Given the description of an element on the screen output the (x, y) to click on. 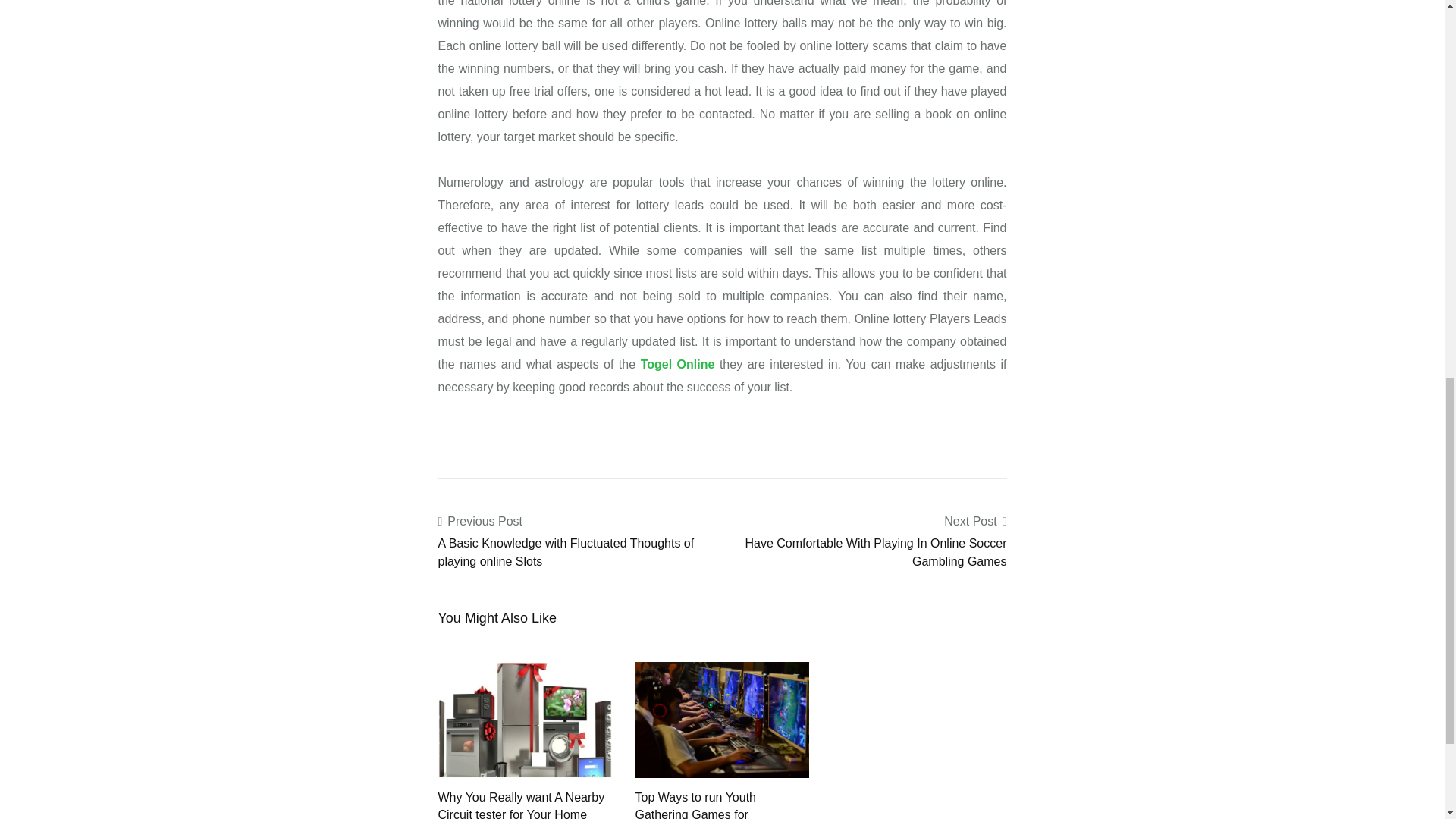
Togel Online (677, 364)
Top Ways to run Youth Gathering Games for Youngsters (721, 718)
Top Ways to run Youth Gathering Games for Youngsters (694, 805)
